Given the description of an element on the screen output the (x, y) to click on. 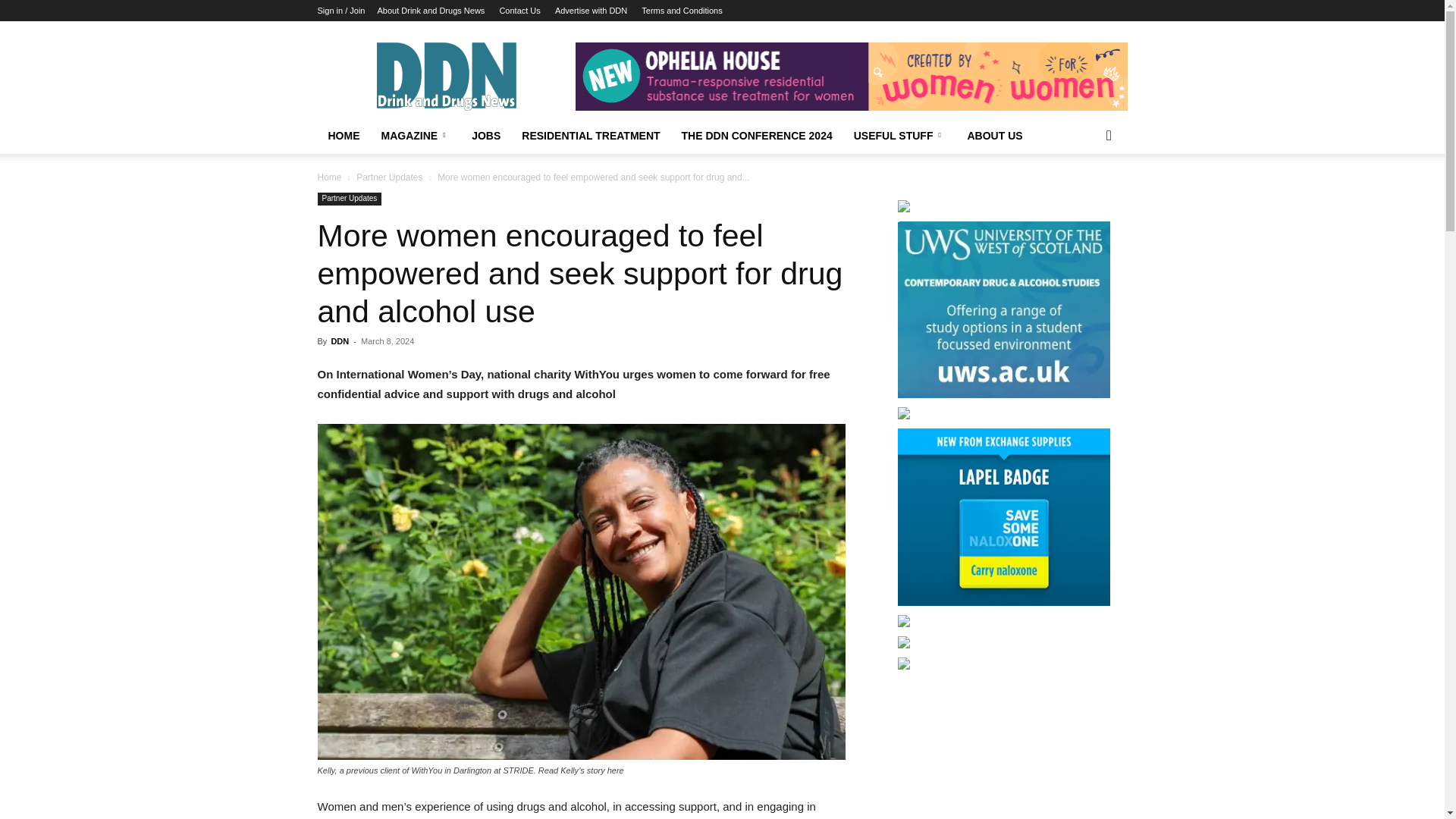
Contact Us (519, 10)
About Drink and Drugs News (430, 10)
View all posts in Partner Updates (389, 176)
